Given the description of an element on the screen output the (x, y) to click on. 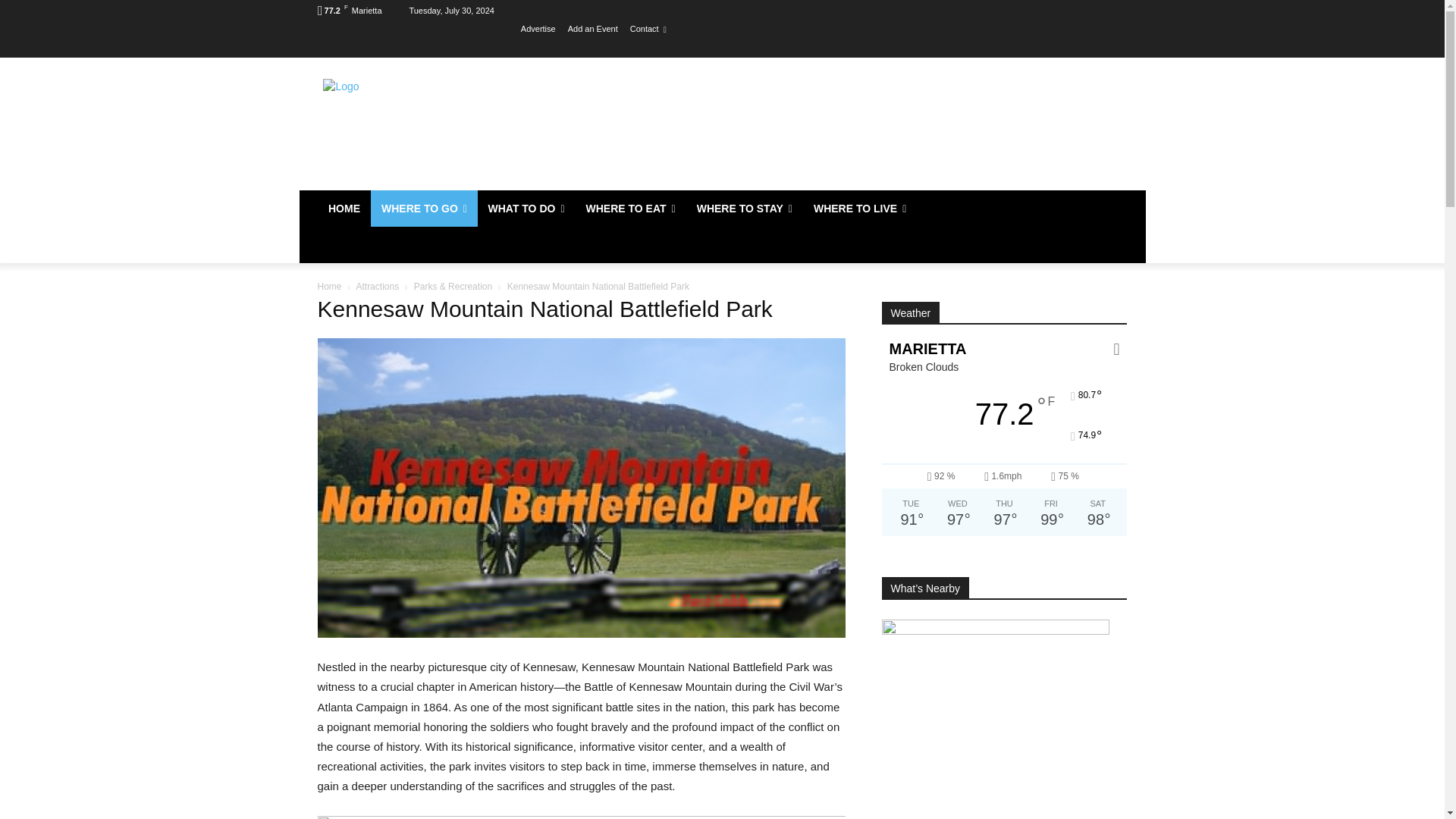
Attractions (376, 286)
